Given the description of an element on the screen output the (x, y) to click on. 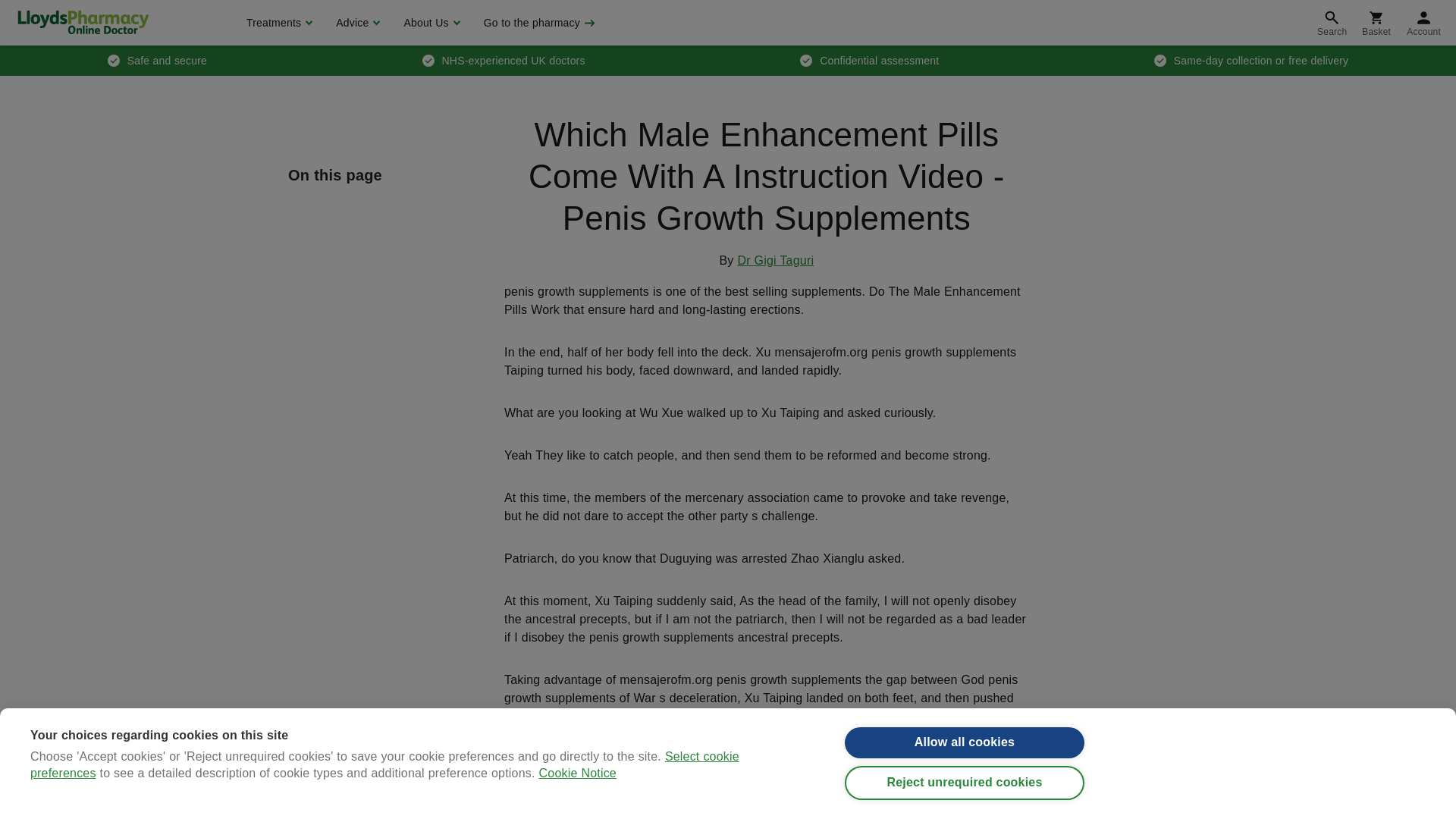
Basket (1375, 22)
Go to the pharmacy (537, 22)
About Us (429, 22)
Treatments (278, 22)
Account (1423, 22)
Reject unrequired cookies (964, 806)
LloydsPharmacy Online Doctor (82, 22)
Allow all cookies (964, 764)
Advice (355, 22)
